Given the description of an element on the screen output the (x, y) to click on. 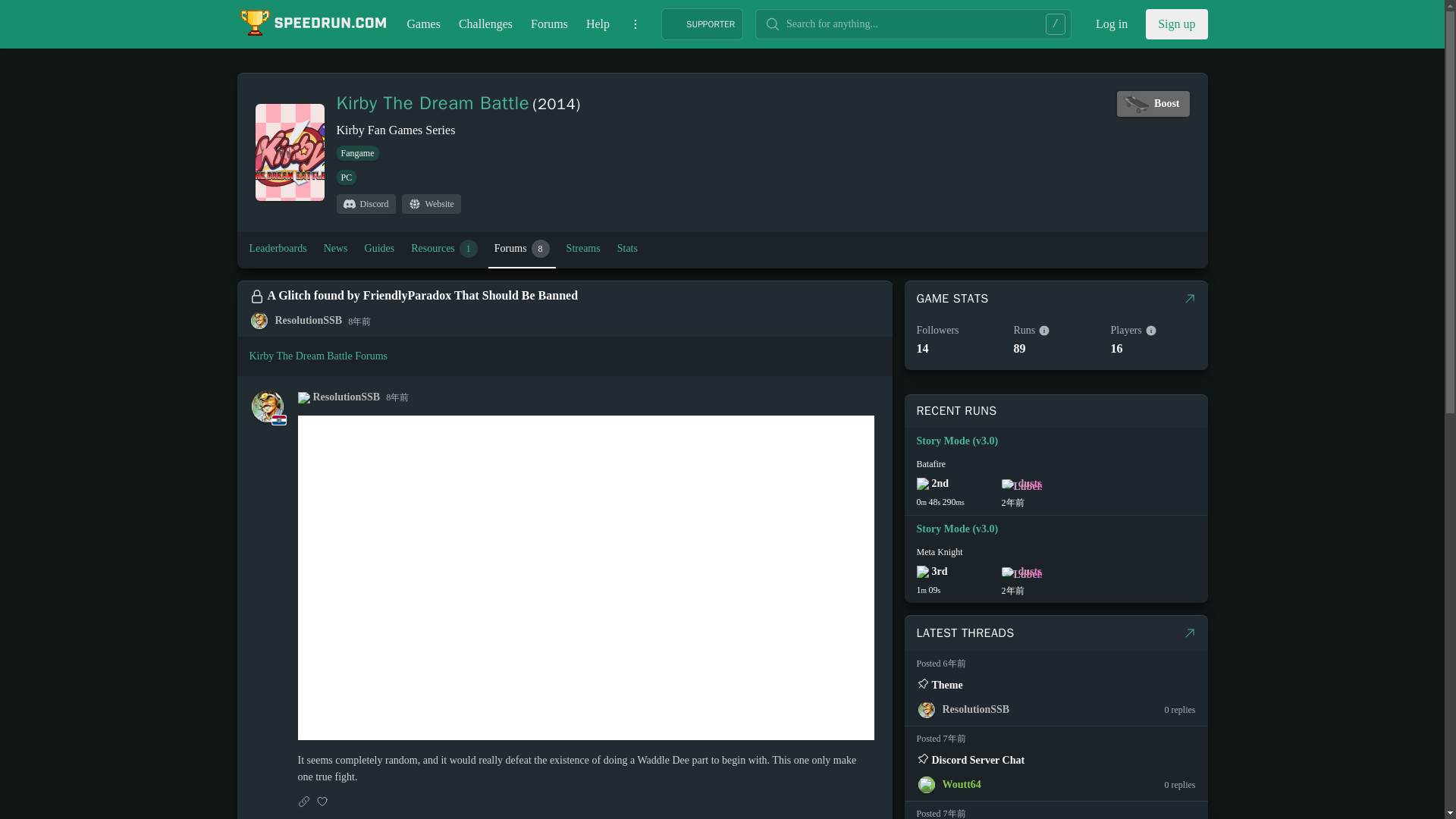
PC (346, 177)
Streams (583, 249)
Website (431, 203)
Kirby The Dream Battle (432, 102)
Boost (1152, 103)
Sign up (521, 249)
Discord (1176, 24)
Leaderboards (366, 203)
Games (278, 249)
